Given the description of an element on the screen output the (x, y) to click on. 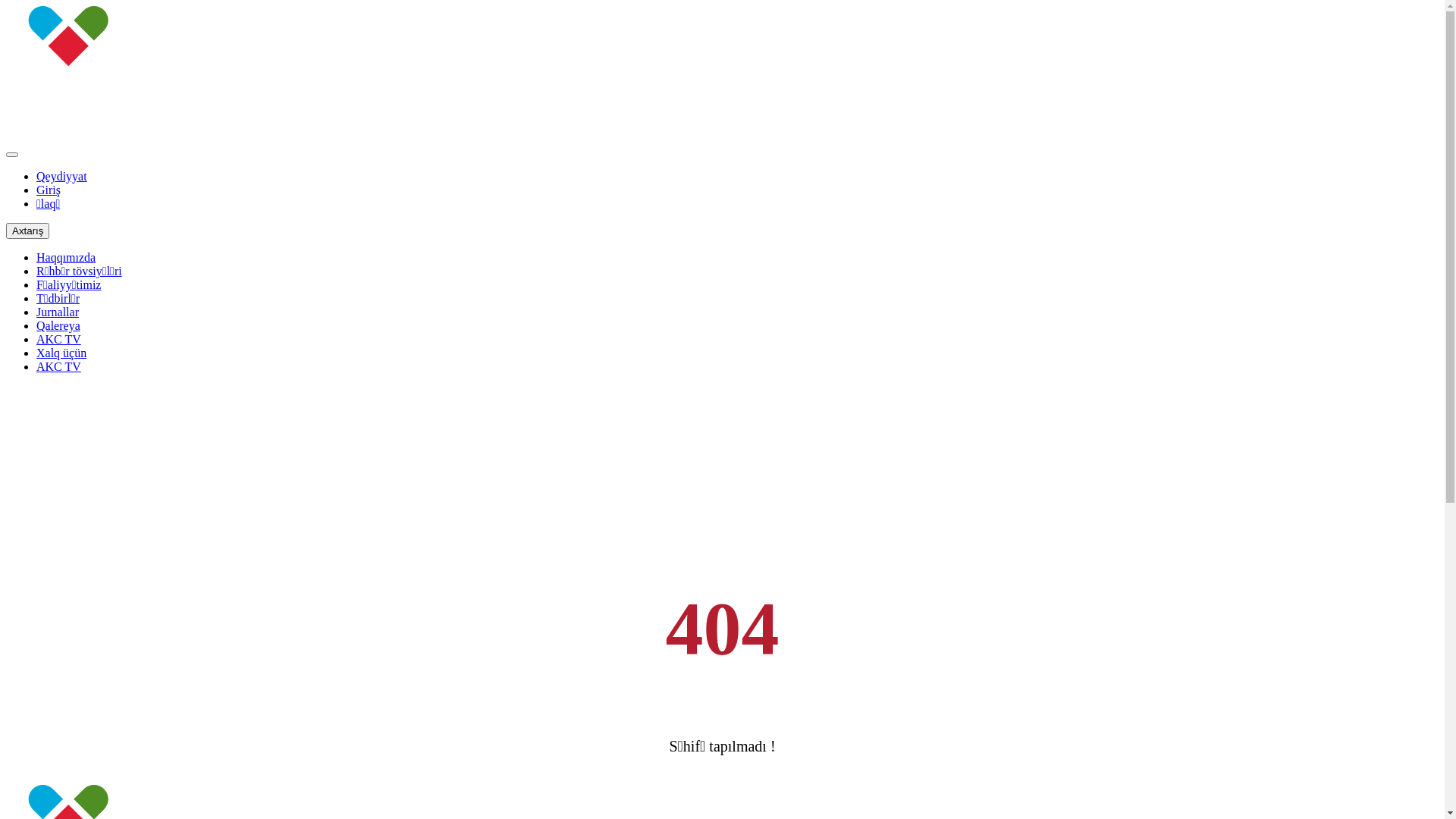
Jurnallar Element type: text (57, 311)
Qalereya Element type: text (58, 325)
Qeydiyyat Element type: text (61, 175)
AKC TV Element type: text (58, 366)
AKC TV Element type: text (58, 338)
